Given the description of an element on the screen output the (x, y) to click on. 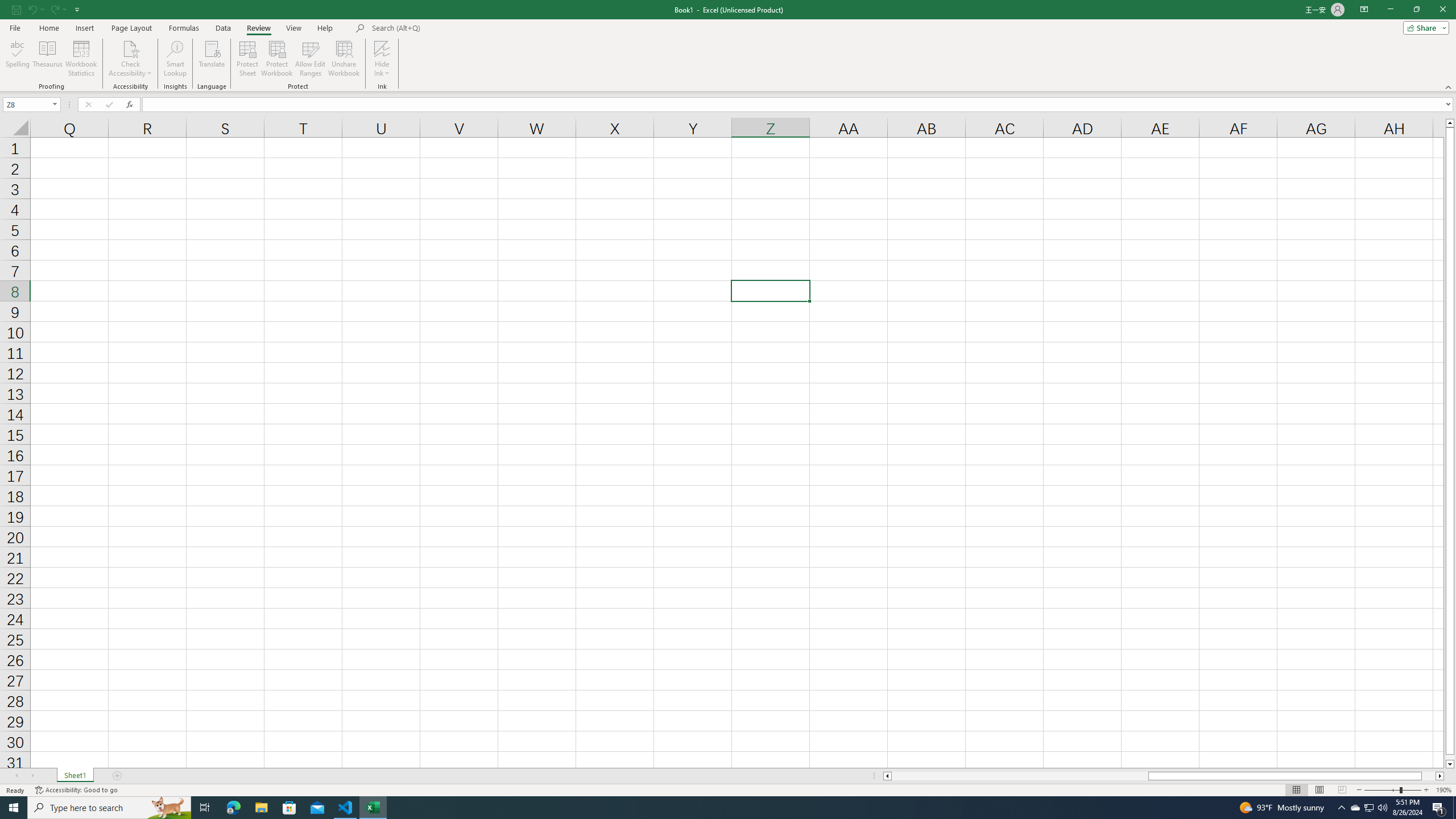
Workbook Statistics (81, 58)
Smart Lookup (175, 58)
